Given the description of an element on the screen output the (x, y) to click on. 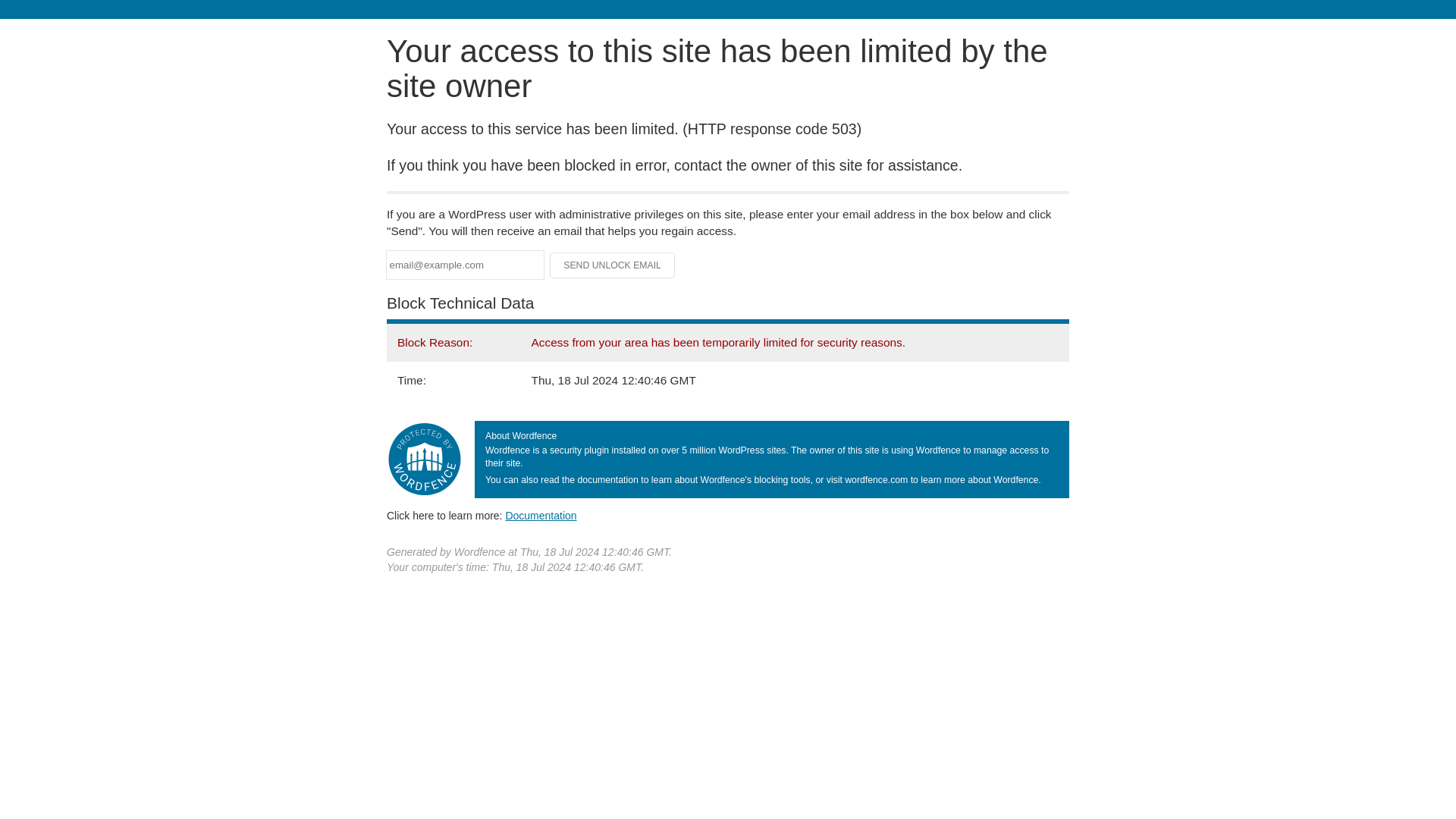
Documentation (540, 515)
Send Unlock Email (612, 265)
Send Unlock Email (612, 265)
